Given the description of an element on the screen output the (x, y) to click on. 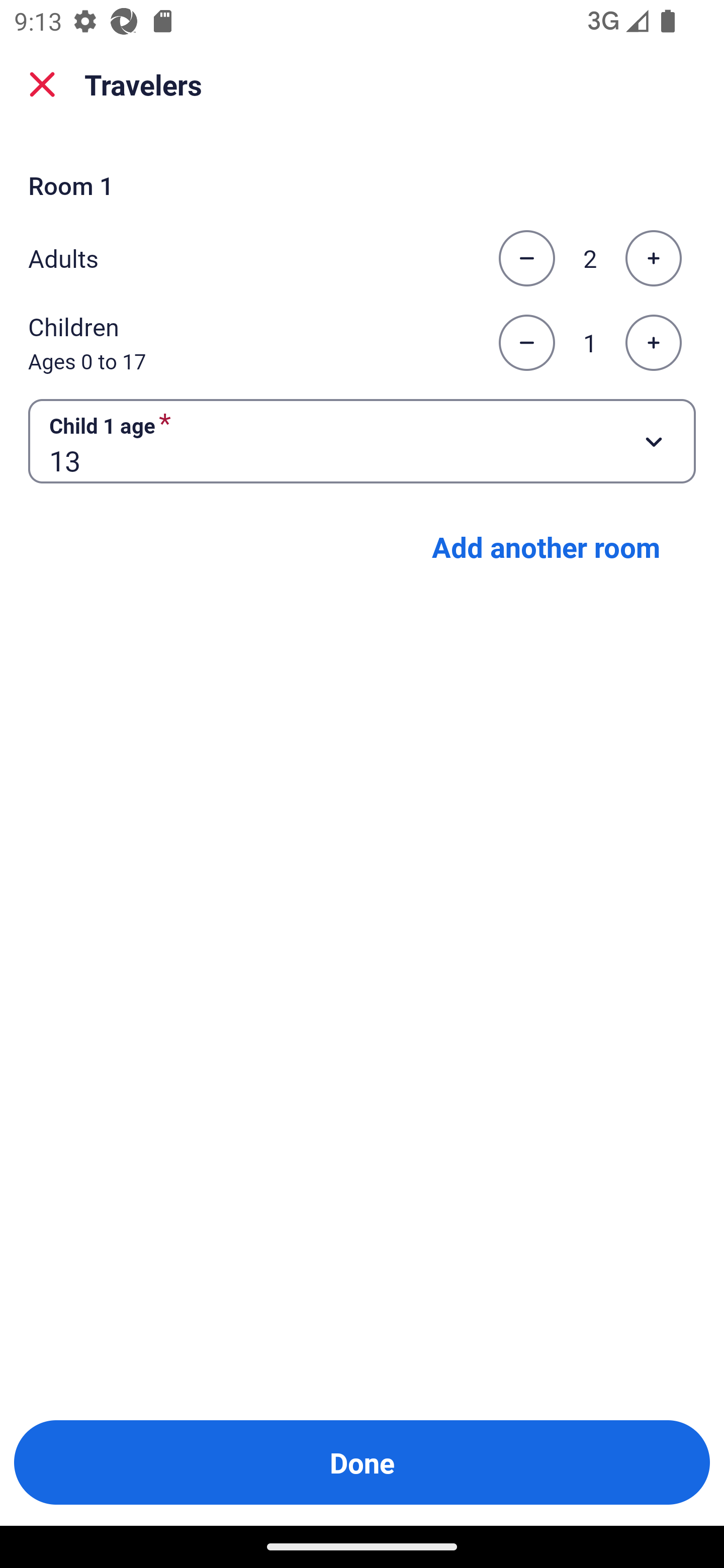
close (42, 84)
Decrease the number of adults (526, 258)
Increase the number of adults (653, 258)
Decrease the number of children (526, 343)
Increase the number of children (653, 343)
Child 1 age required Button 13 (361, 440)
Add another room (545, 546)
Done (361, 1462)
